Given the description of an element on the screen output the (x, y) to click on. 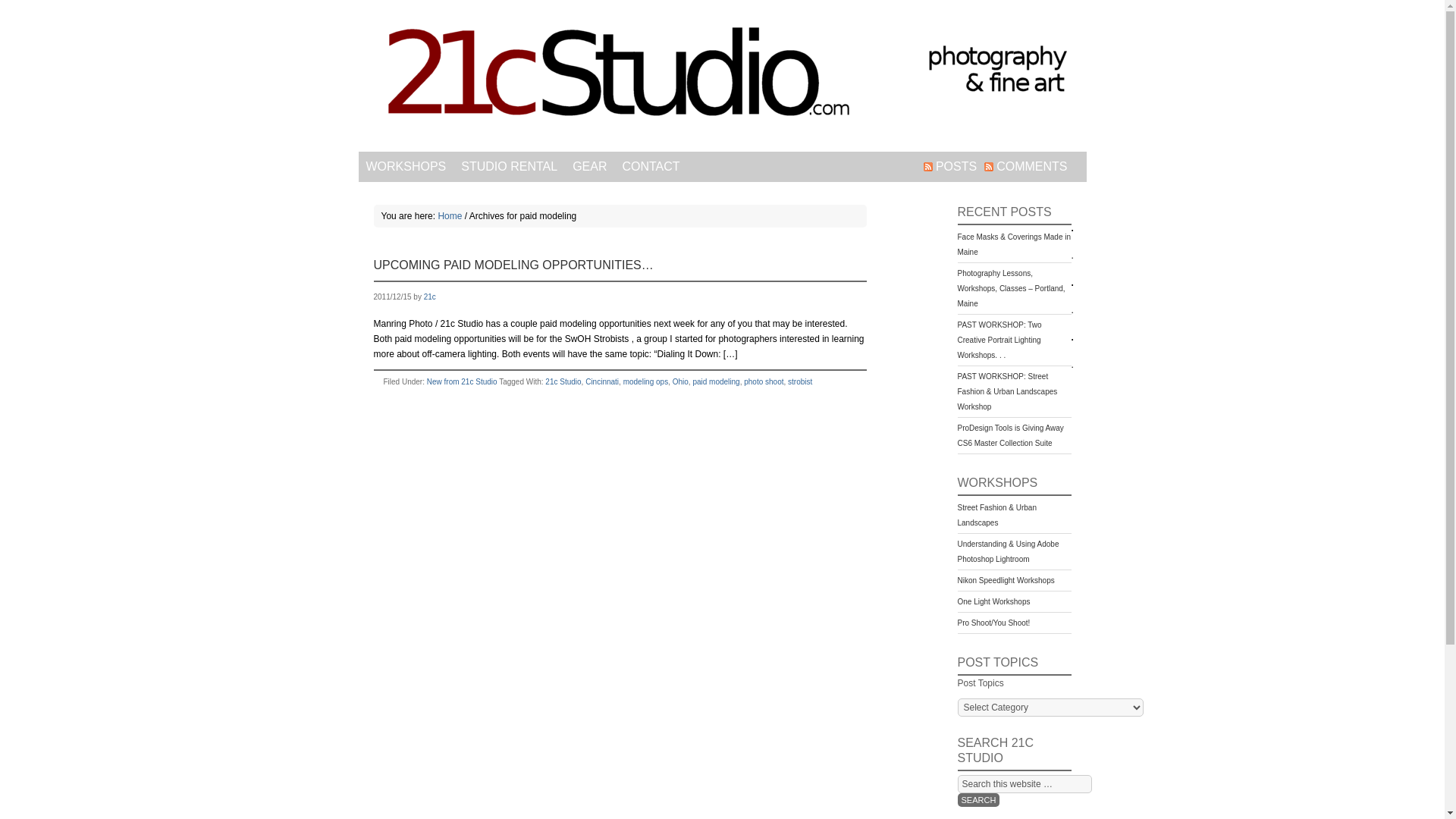
Search Element type: text (978, 799)
Nikon Speedlight Workshops Element type: text (1005, 580)
WORKSHOPS Element type: text (405, 166)
Face Masks & Coverings Made in Maine Element type: text (1013, 244)
21c Studio Element type: text (562, 381)
PAST WORKSHOP: Street Fashion & Urban Landscapes Workshop Element type: text (1007, 391)
21c Studio Element type: text (721, 75)
paid modeling Element type: text (715, 381)
photo shoot Element type: text (763, 381)
STUDIO RENTAL Element type: text (508, 166)
Cincinnati Element type: text (601, 381)
Pro Shoot/You Shoot! Element type: text (993, 622)
One Light Workshops Element type: text (993, 601)
ProDesign Tools is Giving Away CS6 Master Collection Suite Element type: text (1010, 435)
Home Element type: text (449, 215)
COMMENTS Element type: text (1025, 166)
modeling ops Element type: text (645, 381)
21c Element type: text (429, 296)
New from 21c Studio Element type: text (461, 381)
CONTACT Element type: text (650, 166)
POSTS Element type: text (949, 166)
strobist Element type: text (799, 381)
Ohio Element type: text (680, 381)
GEAR Element type: text (589, 166)
Understanding & Using Adobe Photoshop Lightroom Element type: text (1007, 551)
Street Fashion & Urban Landscapes Element type: text (996, 515)
PAST WORKSHOP: Two Creative Portrait Lighting Workshops. . . Element type: text (999, 339)
